Given the description of an element on the screen output the (x, y) to click on. 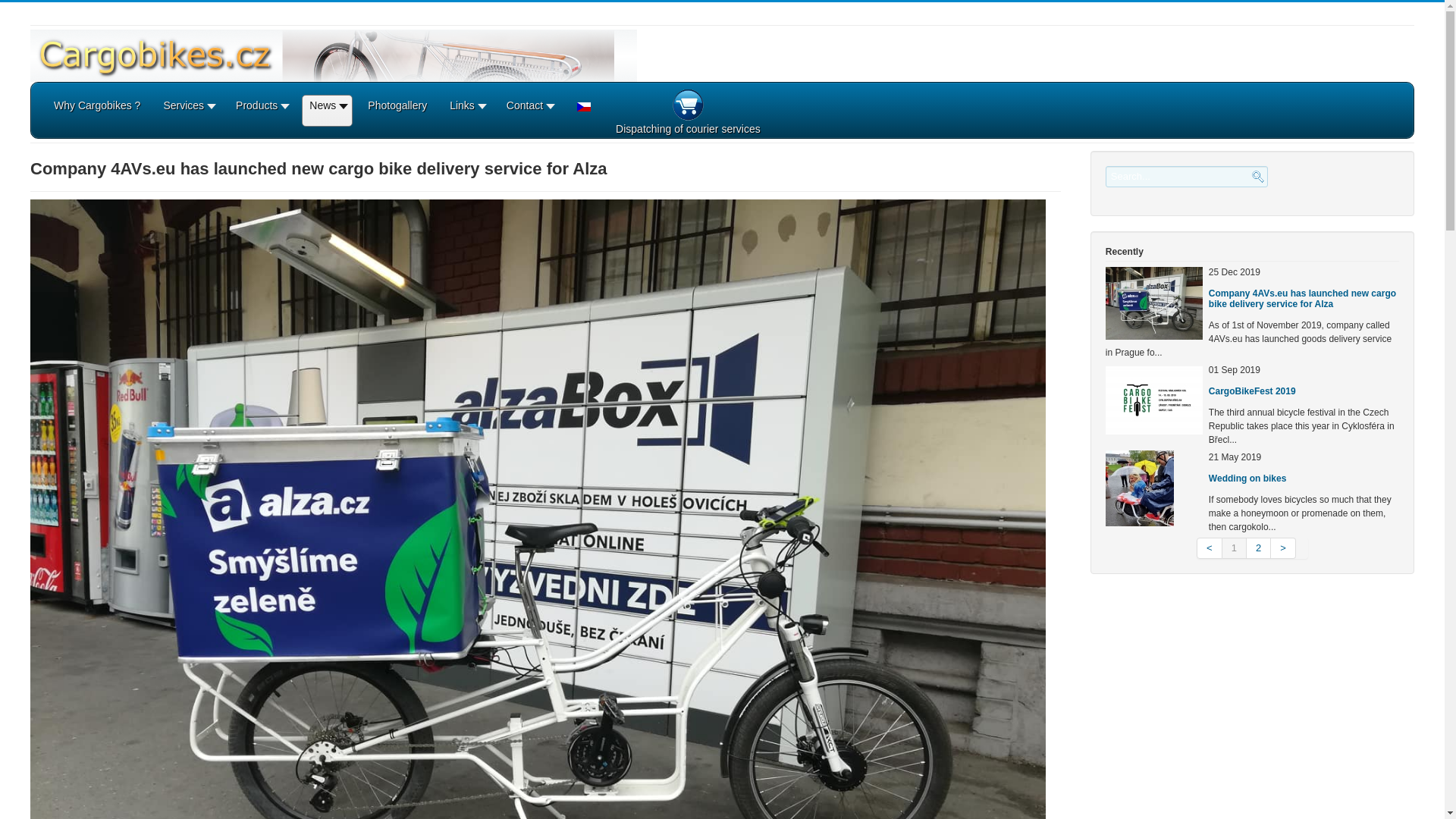
News (326, 111)
Links (466, 111)
Photogallery (397, 111)
Contact (528, 111)
Why Cargobikes ? (96, 111)
Dispatching of courier services (687, 111)
Products (260, 111)
Services (187, 111)
